Given the description of an element on the screen output the (x, y) to click on. 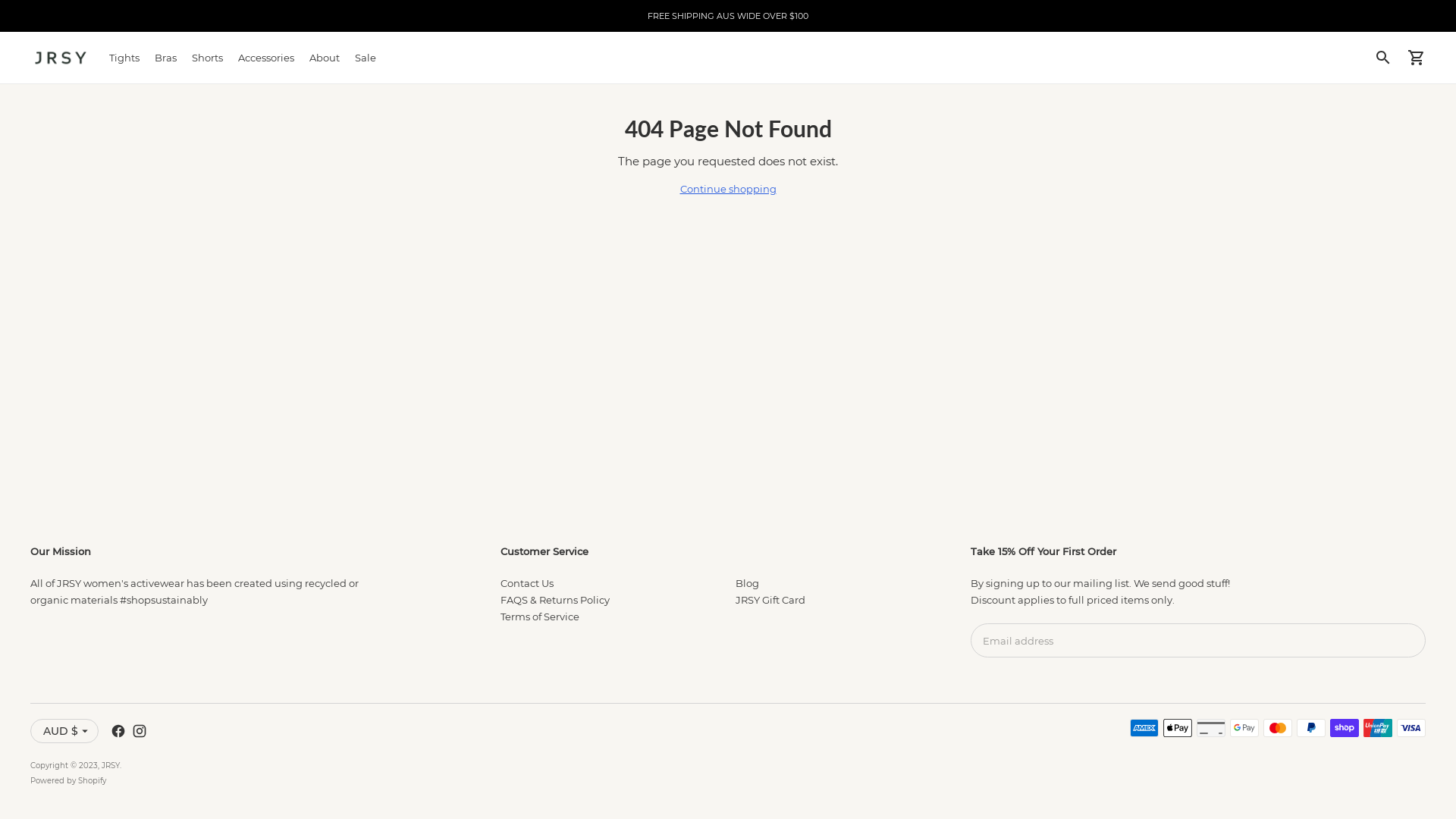
JRSY Element type: text (110, 765)
AUD $ Element type: text (64, 730)
Cart Element type: hover (1416, 57)
Bras Element type: text (165, 57)
Accessories Element type: text (266, 57)
Sale Element type: text (365, 57)
Powered by Shopify Element type: text (68, 780)
Shorts Element type: text (206, 57)
Contact Us Element type: text (526, 583)
Blog Element type: text (747, 583)
Submit Element type: text (1424, 622)
FAQS & Returns Policy Element type: text (554, 599)
Terms of Service Element type: text (539, 616)
JRSY on Facebook Element type: hover (117, 730)
Tights Element type: text (124, 57)
JRSY Gift Card Element type: text (770, 599)
Continue shopping Element type: text (727, 188)
Search Element type: hover (1382, 57)
About Element type: text (324, 57)
JRSY on Instagram Element type: hover (139, 730)
